Given the description of an element on the screen output the (x, y) to click on. 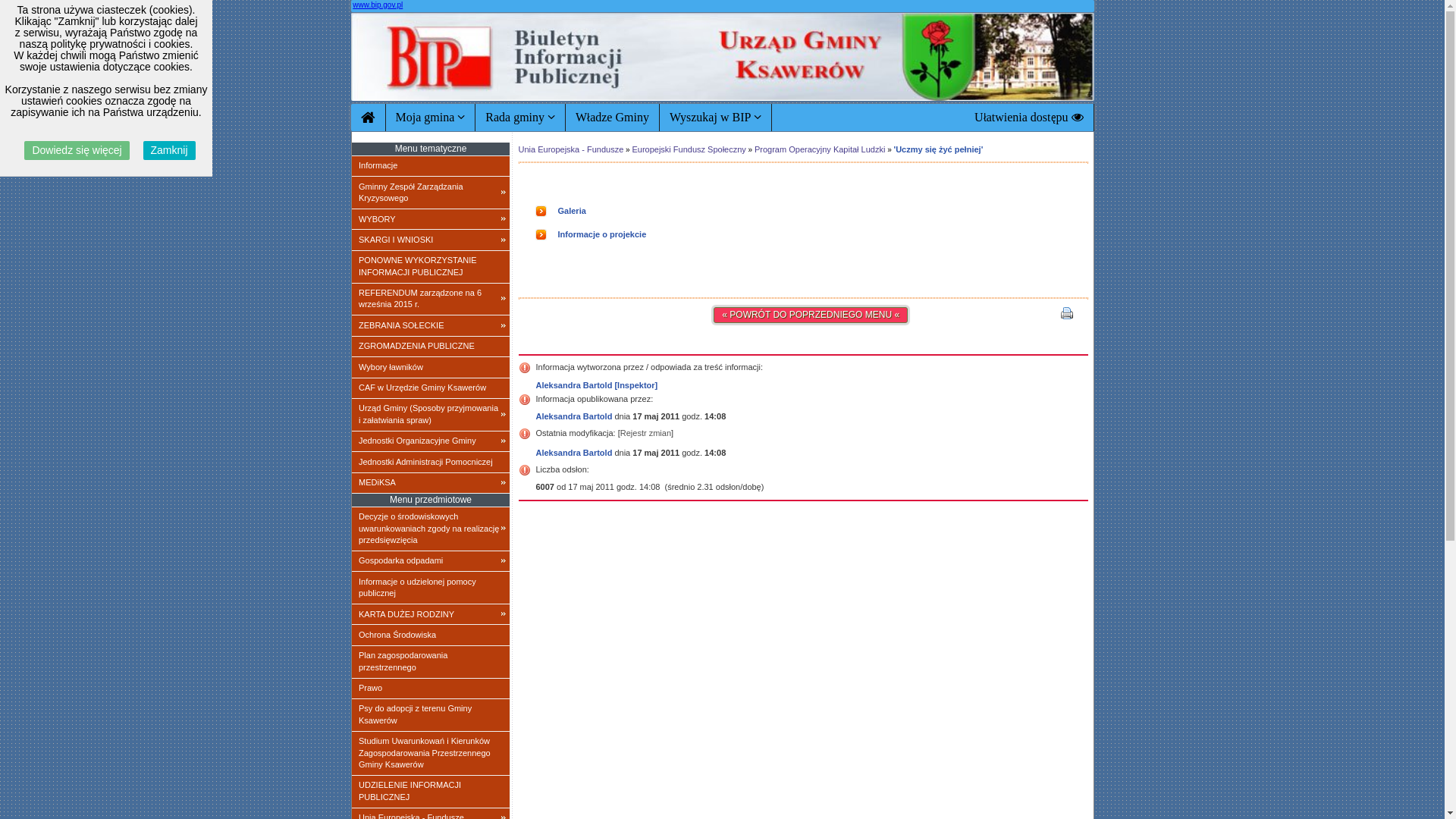
Aleksandra Bartold Element type: text (573, 415)
Jednostki Organizacyjne Gminy Element type: text (430, 441)
SKARGI I WNIOSKI Element type: text (430, 239)
www.bip.gov.pl Element type: text (377, 4)
MEDiKSA Element type: text (430, 482)
Rejestr zmian Element type: text (645, 432)
Zamknij Element type: text (169, 150)
Wyszukaj w BIP Element type: text (715, 117)
Informacje o udzielonej pomocy publicznej Element type: text (430, 587)
Aleksandra Bartold [Inspektor] Element type: text (596, 384)
Gospodarka odpadami Element type: text (430, 561)
Aleksandra Bartold Element type: text (573, 452)
Wyszukaj Element type: text (760, 181)
ZGROMADZENIA PUBLICZNE Element type: text (430, 346)
Unia Europejska - Fundusze Element type: text (571, 148)
Plan zagospodarowania przestrzennego Element type: text (430, 661)
Informacje o projekcie Element type: text (602, 233)
Rada gminy Element type: text (520, 117)
Moja gmina Element type: text (430, 117)
PONOWNE WYKORZYSTANIE INFORMACJI PUBLICZNEJ Element type: text (430, 266)
UDZIELENIE INFORMACJI PUBLICZNEJ Element type: text (430, 791)
Informacje Element type: text (430, 165)
Galeria Element type: text (572, 210)
Prawo Element type: text (430, 688)
Jednostki Administracji Pomocniczej Element type: text (430, 461)
WYBORY Element type: text (430, 219)
